Given the description of an element on the screen output the (x, y) to click on. 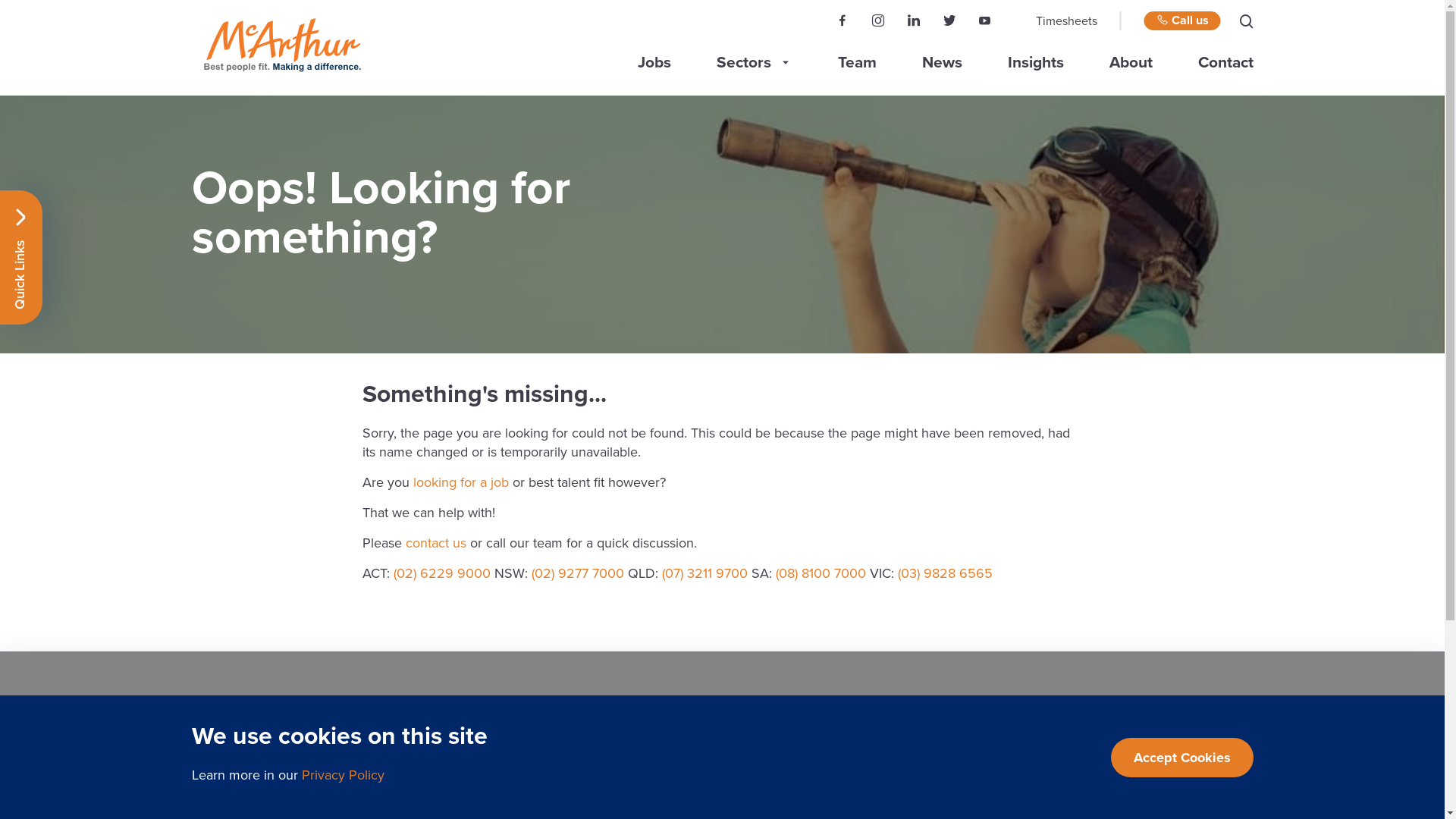
(07) 3211 9700 Element type: text (703, 572)
Jobs Element type: text (653, 62)
contact us Element type: text (434, 542)
Contact Element type: text (1225, 62)
Timesheets Element type: text (1066, 20)
(02) 6229 9000 Element type: text (440, 572)
Sectors Element type: text (742, 62)
Accept Cookies Element type: text (1181, 756)
About Element type: text (1129, 62)
News Element type: text (942, 62)
Insights Element type: text (1035, 62)
 Call us Element type: text (1181, 20)
(02) 9277 7000 Element type: text (576, 572)
Team Element type: text (856, 62)
Privacy Policy Element type: text (342, 774)
(03) 9828 6565 Element type: text (944, 572)
(08) 8100 7000 Element type: text (820, 572)
looking for a job Element type: text (460, 481)
